Given the description of an element on the screen output the (x, y) to click on. 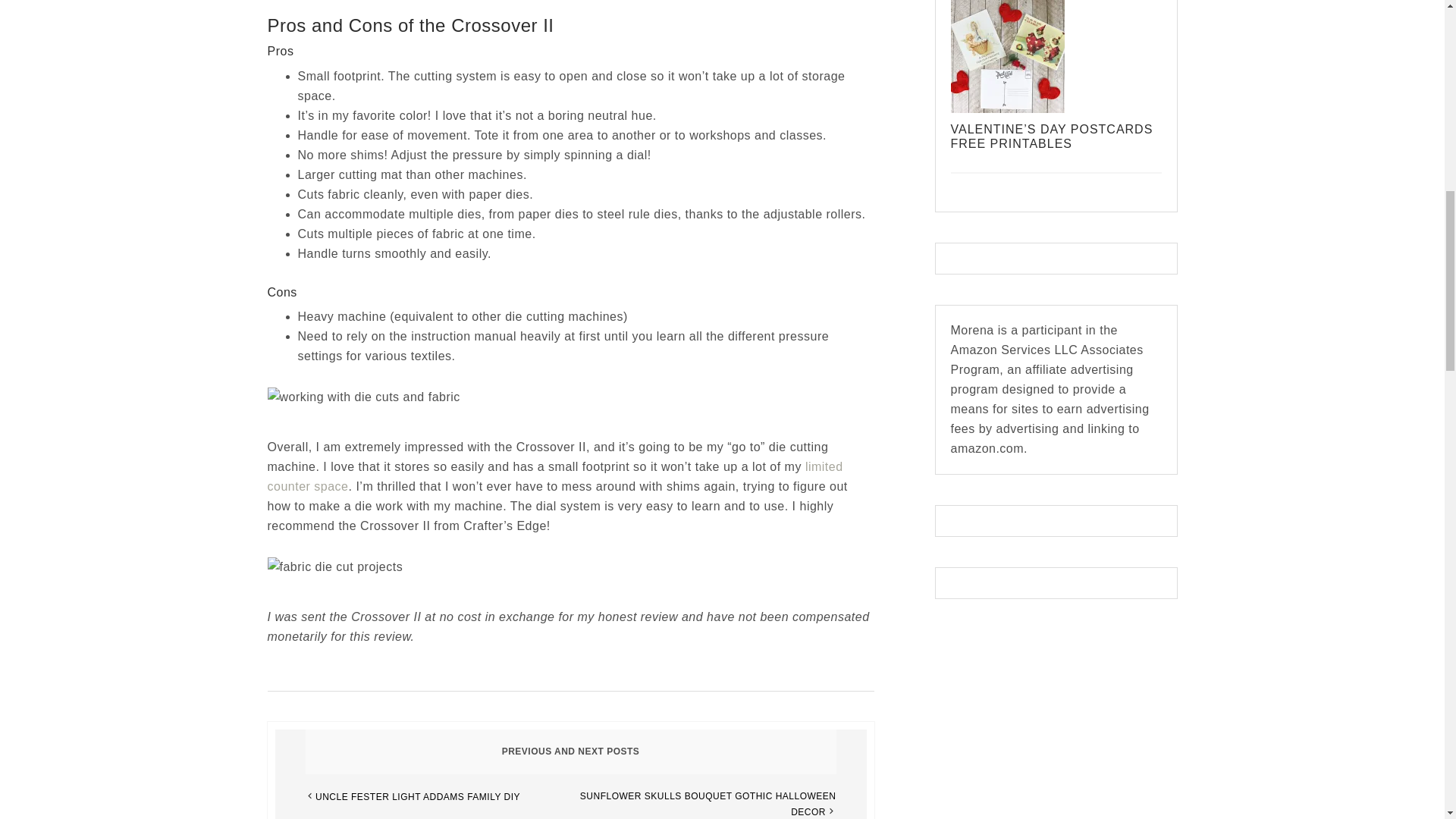
UNCLE FESTER LIGHT ADDAMS FAMILY DIY (417, 796)
SUNFLOWER SKULLS BOUQUET GOTHIC HALLOWEEN DECOR (707, 804)
limited counter space (554, 476)
